Given the description of an element on the screen output the (x, y) to click on. 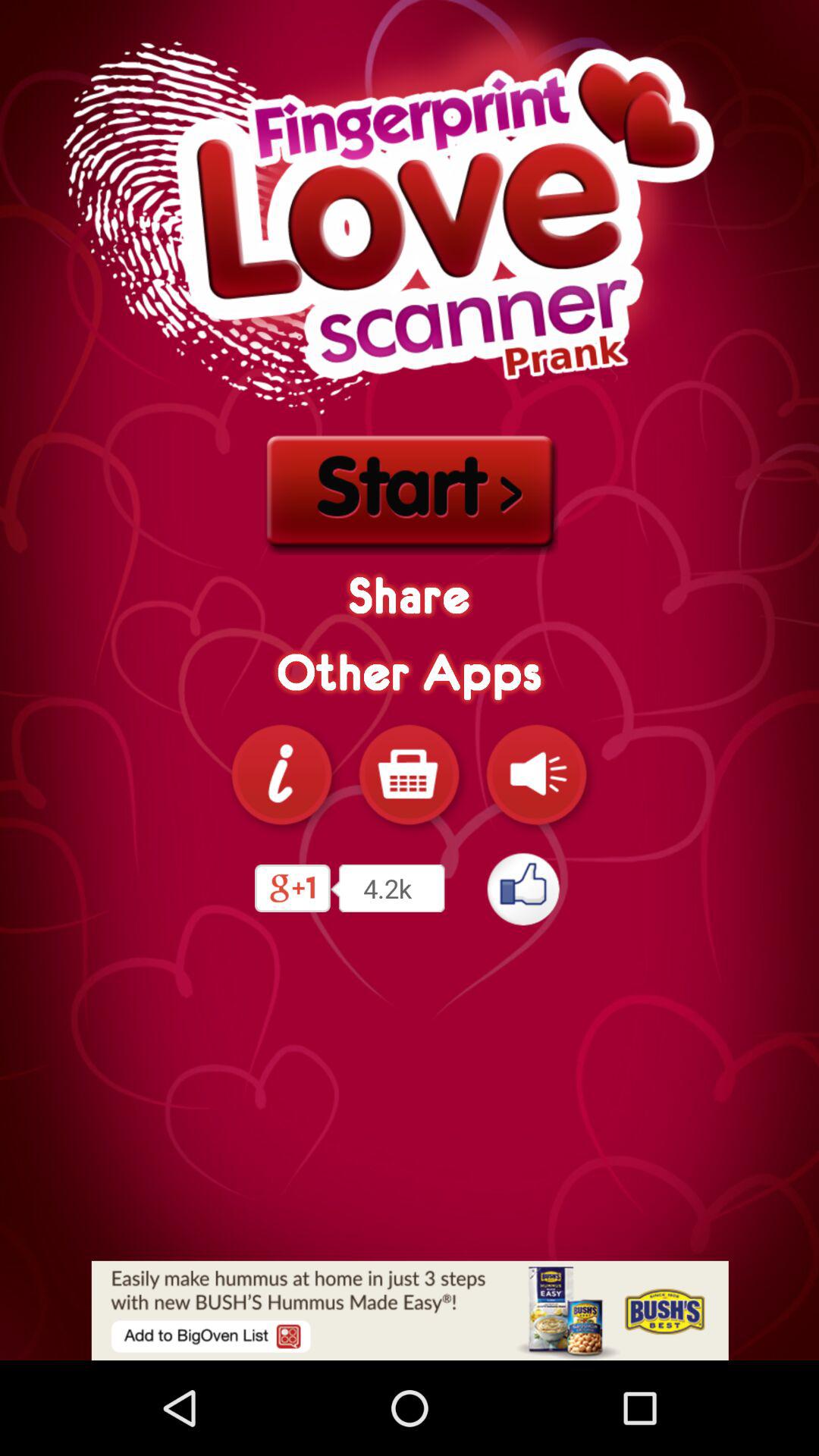
sound option (536, 774)
